Given the description of an element on the screen output the (x, y) to click on. 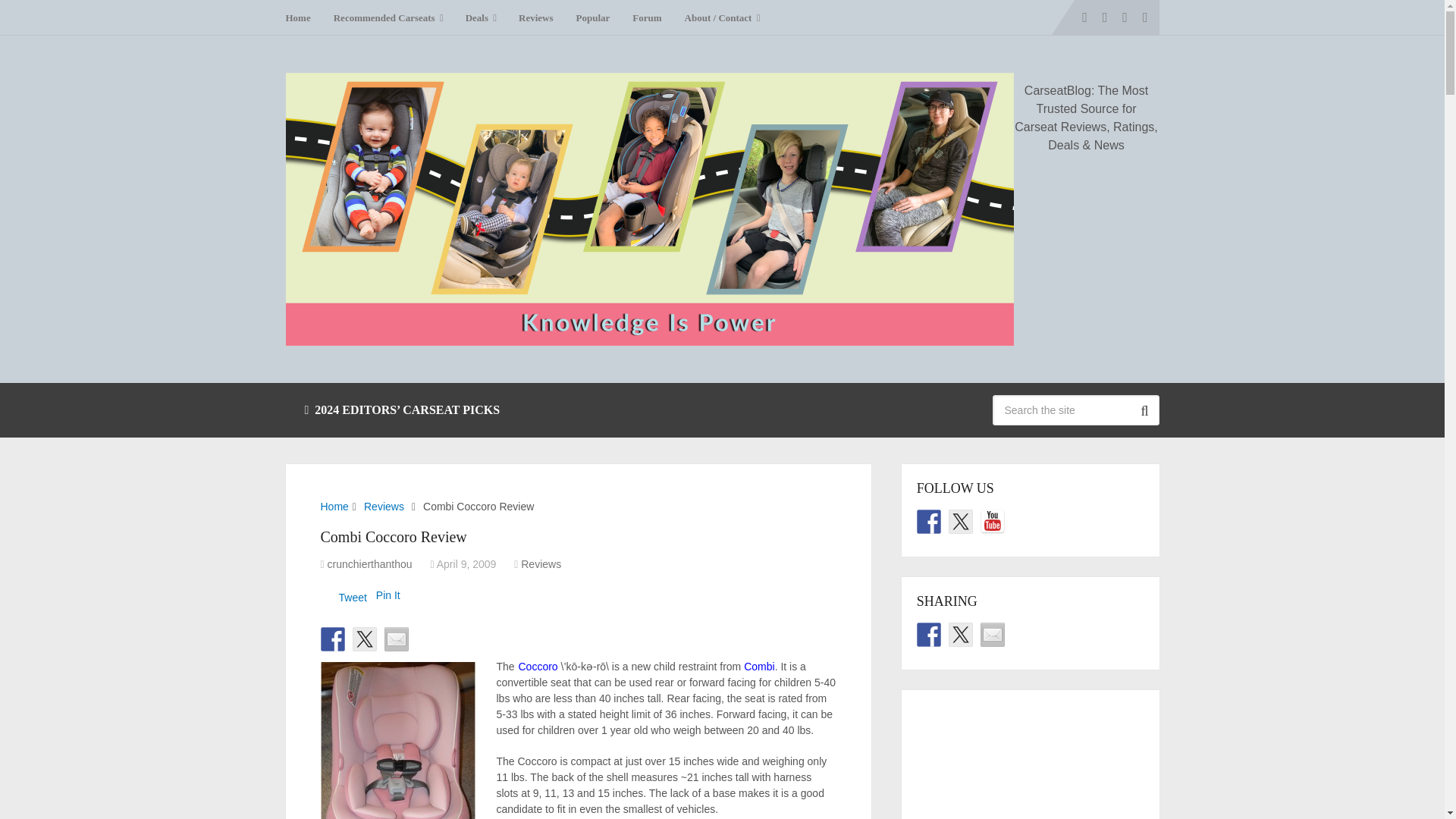
View all posts in Reviews (540, 563)
Share by email (395, 639)
Share on Twitter (363, 639)
Reviews (535, 17)
Recommended Carseats (387, 17)
Posts by crunchierthanthou (369, 563)
Home (303, 17)
Deals (480, 17)
Popular (592, 17)
Forum (646, 17)
Search (1143, 409)
Share on Facebook (331, 639)
